Given the description of an element on the screen output the (x, y) to click on. 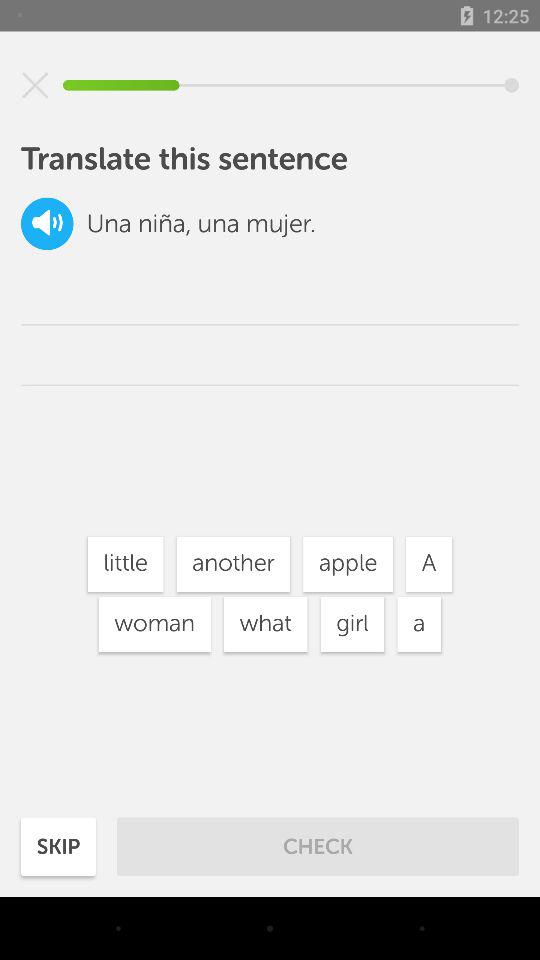
jump to check icon (318, 846)
